Given the description of an element on the screen output the (x, y) to click on. 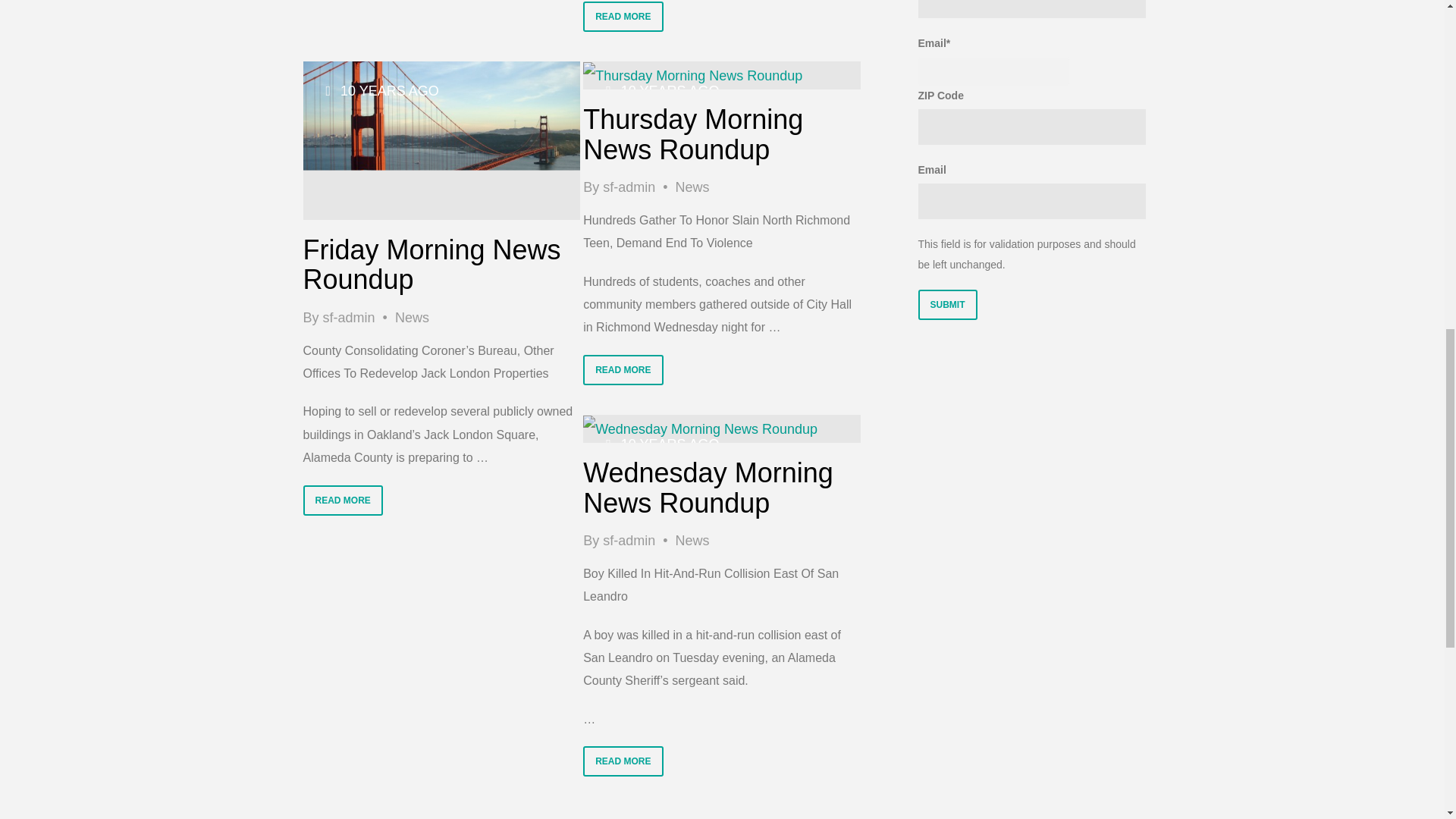
Friday Morning News Roundup (441, 140)
Posts by sf-admin (628, 186)
Posts by sf-admin (349, 317)
More News Posts (411, 317)
Thursday Morning News Roundup (692, 75)
Submit (946, 304)
More News Posts (692, 186)
